Given the description of an element on the screen output the (x, y) to click on. 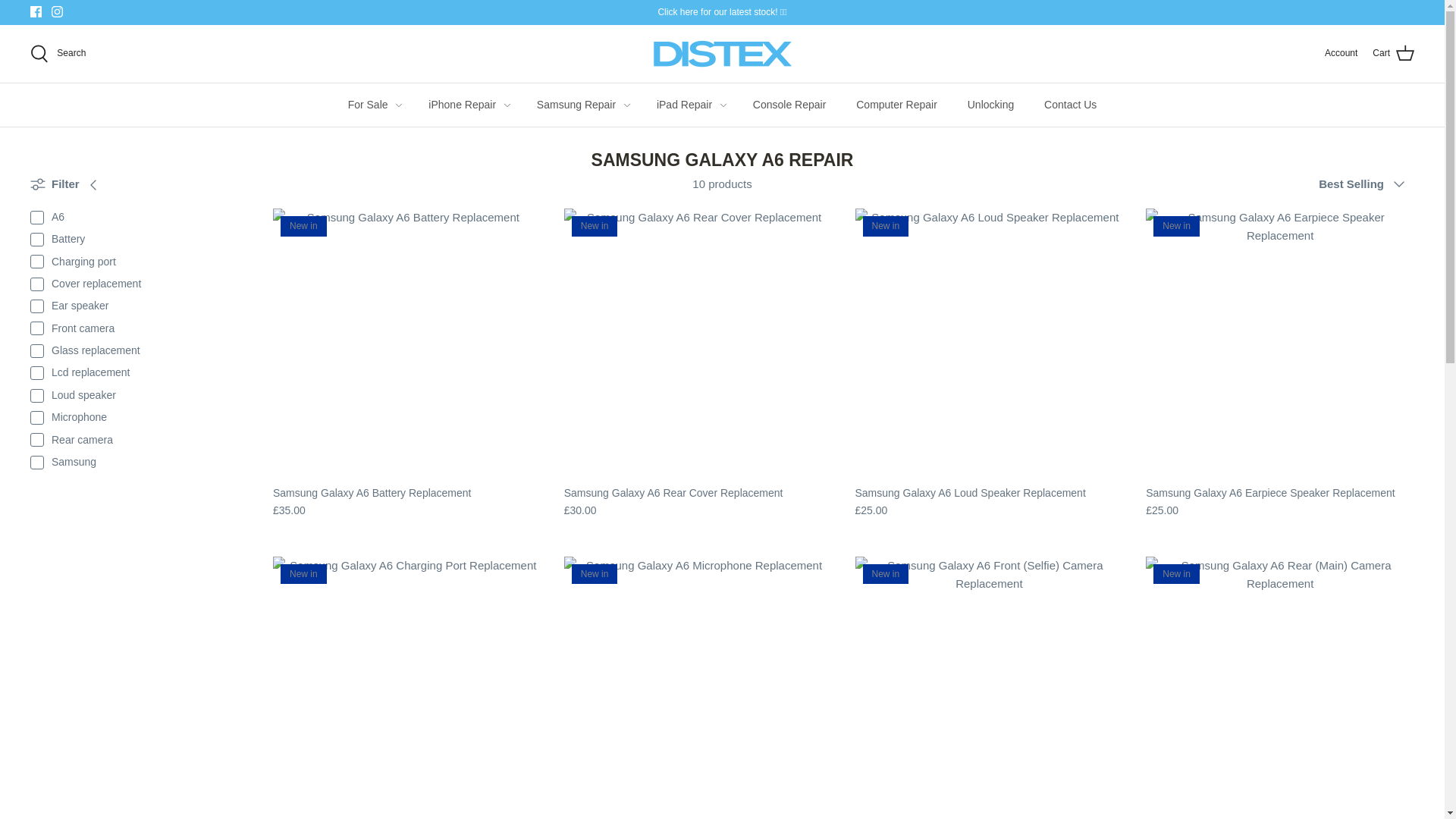
Toggle menu (723, 104)
Cart (1393, 53)
Toggle menu (626, 104)
Instagram (56, 11)
Facebook (36, 11)
Search (57, 54)
Account (1340, 52)
Toggle menu (507, 104)
Facebook (36, 11)
For Sale (367, 104)
